Given the description of an element on the screen output the (x, y) to click on. 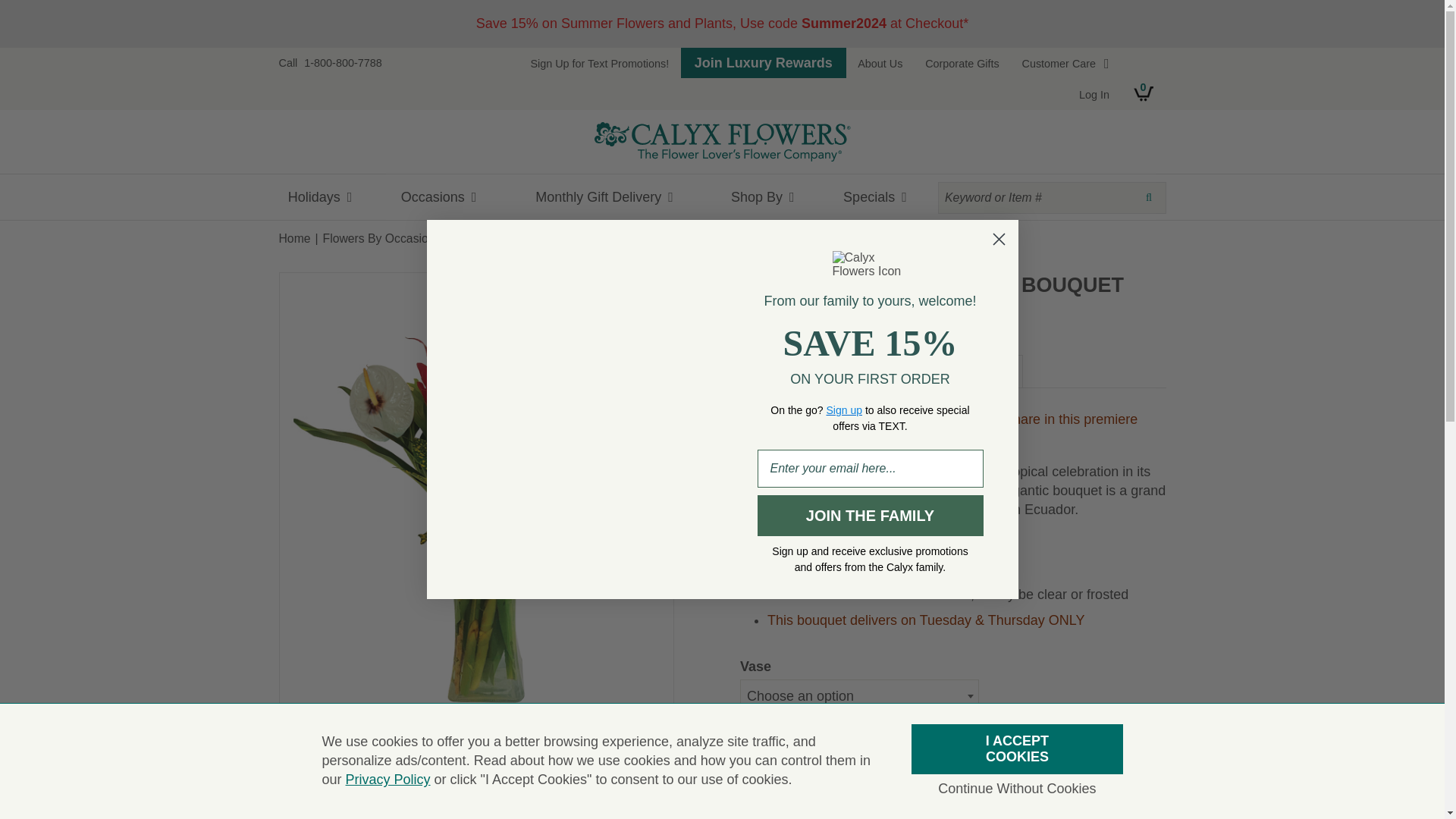
Holidays (327, 197)
Log In (1094, 94)
Sign Up for Text Promotions! (599, 63)
Log In (1094, 94)
About Us (880, 63)
View your shopping cart (1143, 93)
Join Luxury Rewards (763, 62)
Customer Care (1064, 63)
Customer Care (1064, 63)
0 (1143, 93)
About Us (880, 63)
Join Luxury Rewards (763, 62)
1 (758, 759)
Corporate Gifts (962, 63)
